Given the description of an element on the screen output the (x, y) to click on. 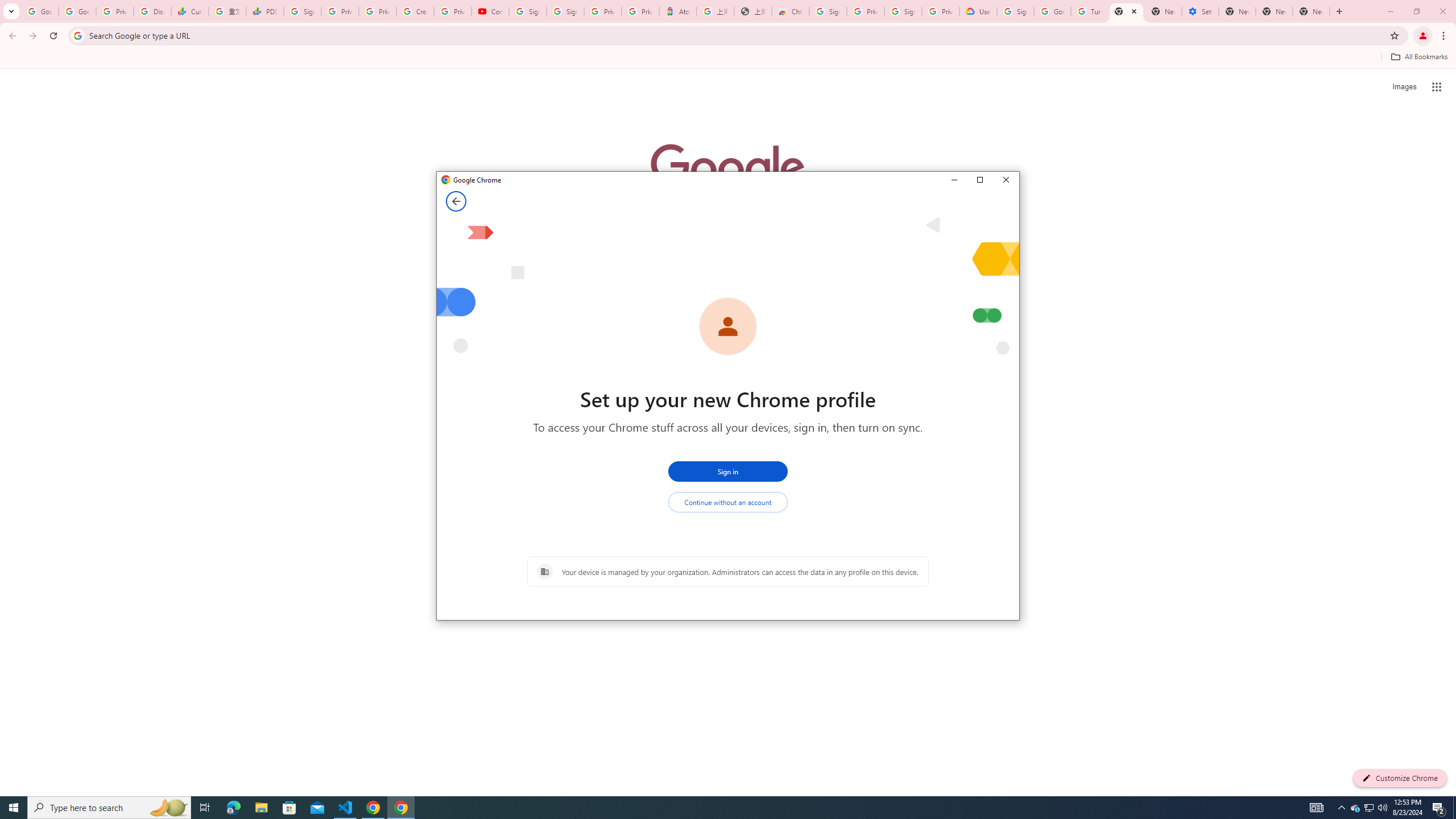
Search highlights icon opens search home window (167, 807)
PDD Holdings Inc - ADR (PDD) Price & News - Google Finance (264, 11)
Turn cookies on or off - Computer - Google Account Help (1088, 11)
Content Creator Programs & Opportunities - YouTube Creators (489, 11)
Start (13, 807)
Maximize (979, 180)
Google Chrome - 1 running window (400, 807)
Q2790: 100% (1382, 807)
